Given the description of an element on the screen output the (x, y) to click on. 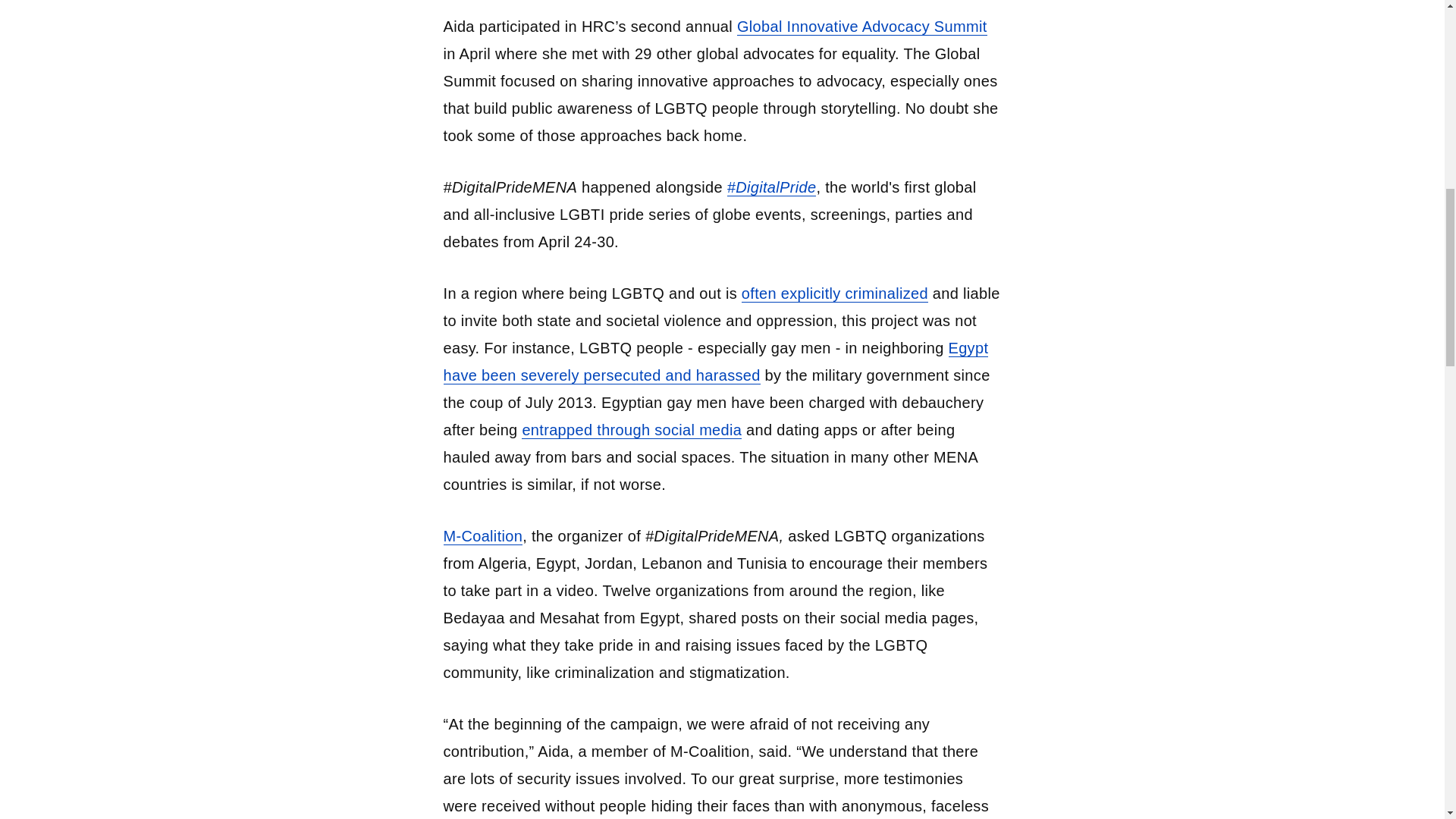
Global Innovative Advocacy Summit (861, 27)
Egypt have been severely persecuted and harassed (715, 361)
entrapped through social media (631, 429)
often explicitly criminalized (834, 293)
